Given the description of an element on the screen output the (x, y) to click on. 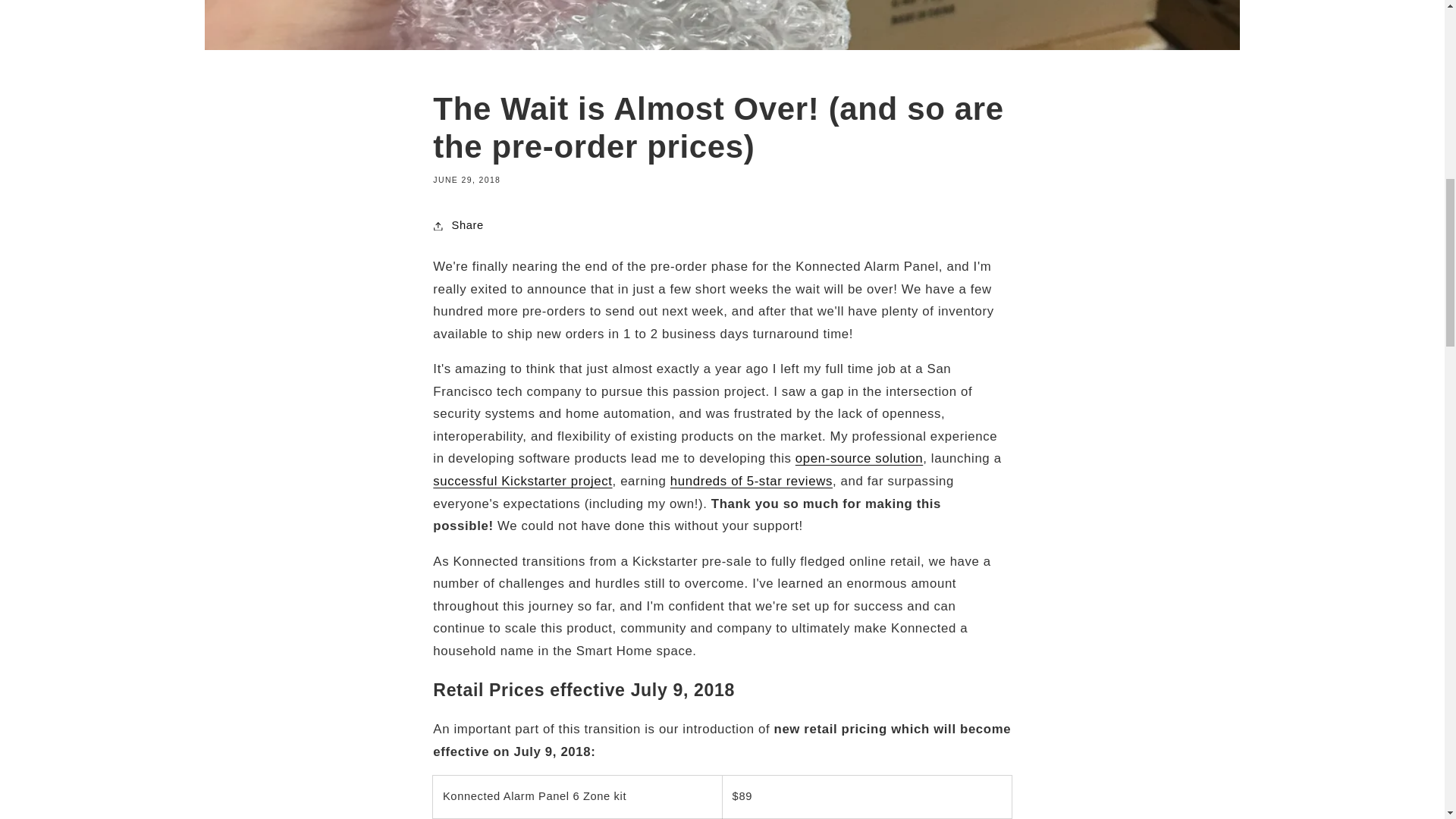
Konnected Alarm Panel on Kickstarter (521, 481)
